Given the description of an element on the screen output the (x, y) to click on. 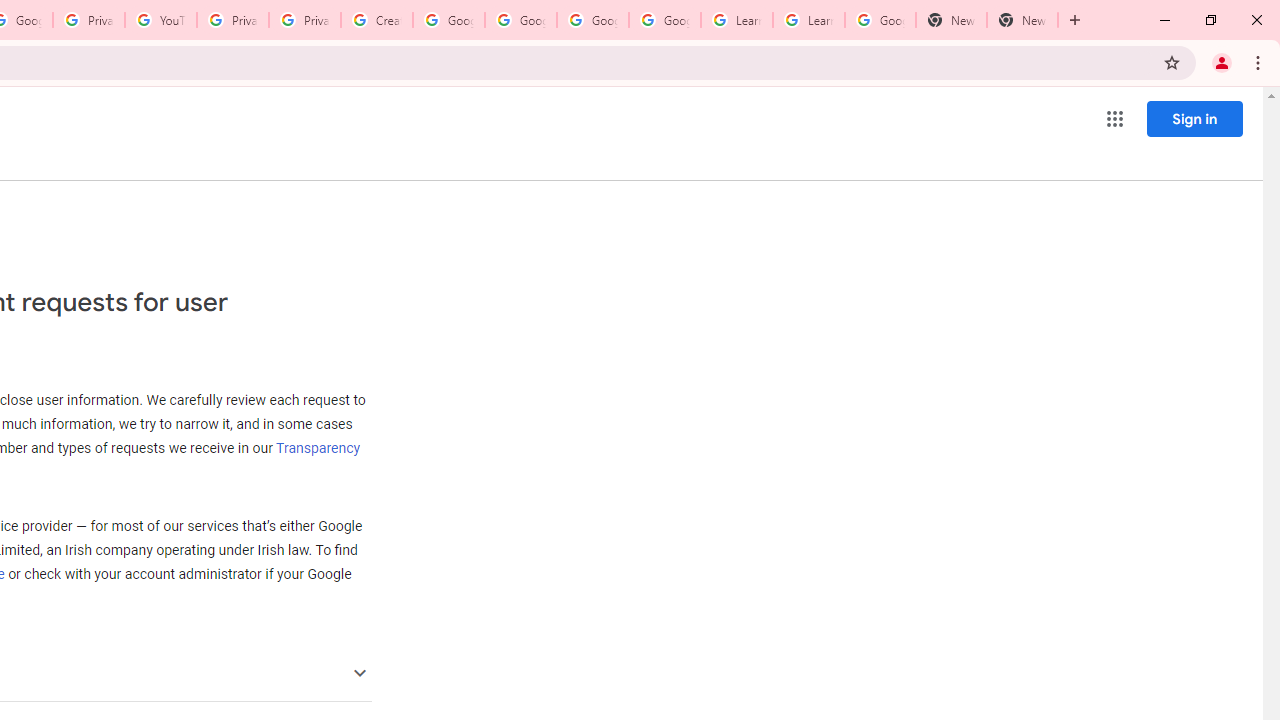
Google Account Help (520, 20)
Create your Google Account (376, 20)
Google Account Help (664, 20)
New Tab (951, 20)
